Given the description of an element on the screen output the (x, y) to click on. 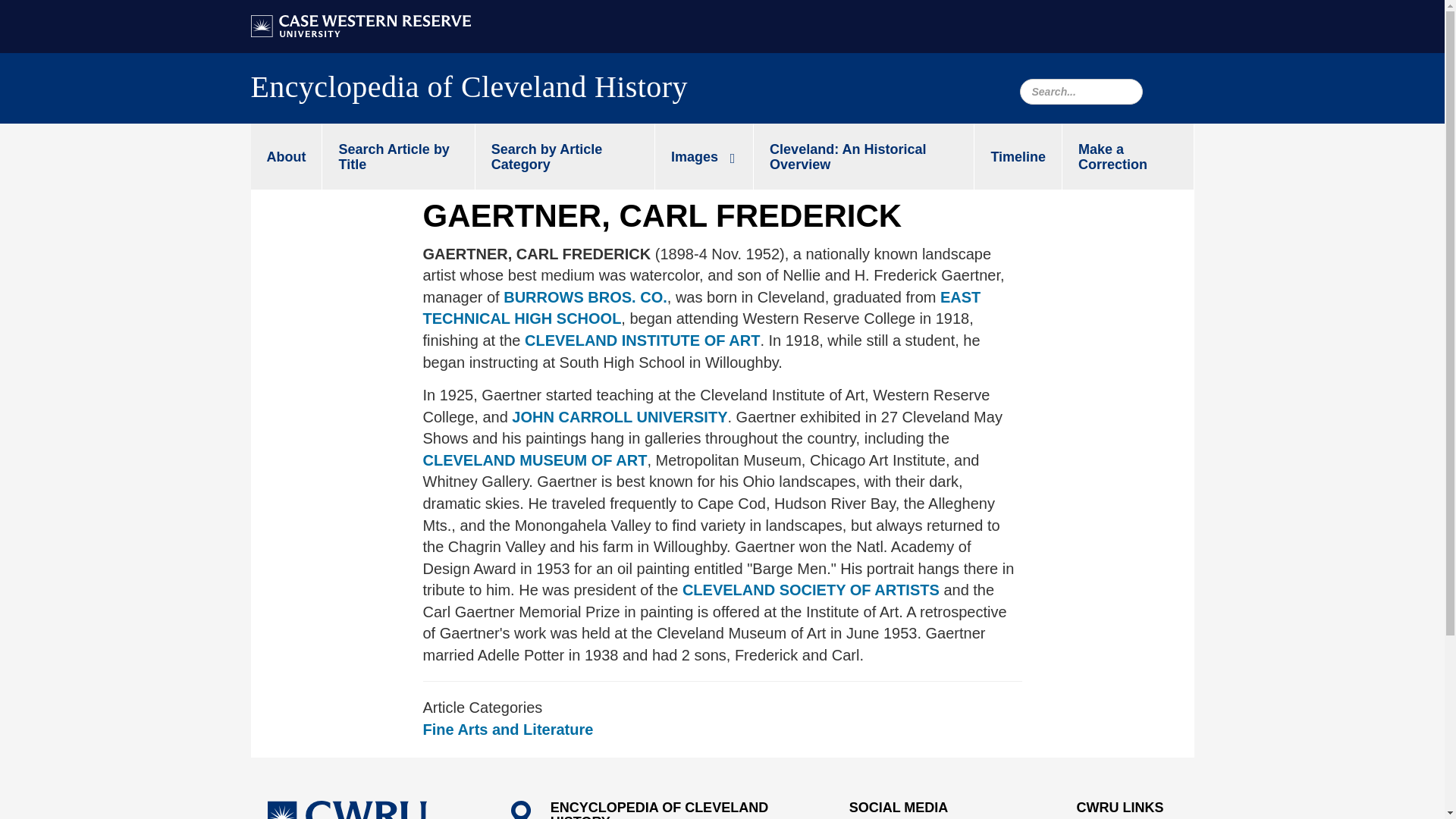
BURROWS BROS. CO. (584, 297)
CLEVELAND MUSEUM OF ART (535, 460)
About (285, 156)
Search Article by Title (397, 156)
Search by Article Category (564, 156)
Encyclopedia of Cleveland History (468, 91)
searchbox (1080, 91)
Go to case.edu (360, 24)
CLEVELAND INSTITUTE OF ART (642, 340)
Case Western Reserve University (360, 25)
Case Western Reserve University (346, 809)
Timeline (1017, 156)
EAST TECHNICAL HIGH SCHOOL (702, 308)
The original preface to the 1987 edition. (864, 156)
